Given the description of an element on the screen output the (x, y) to click on. 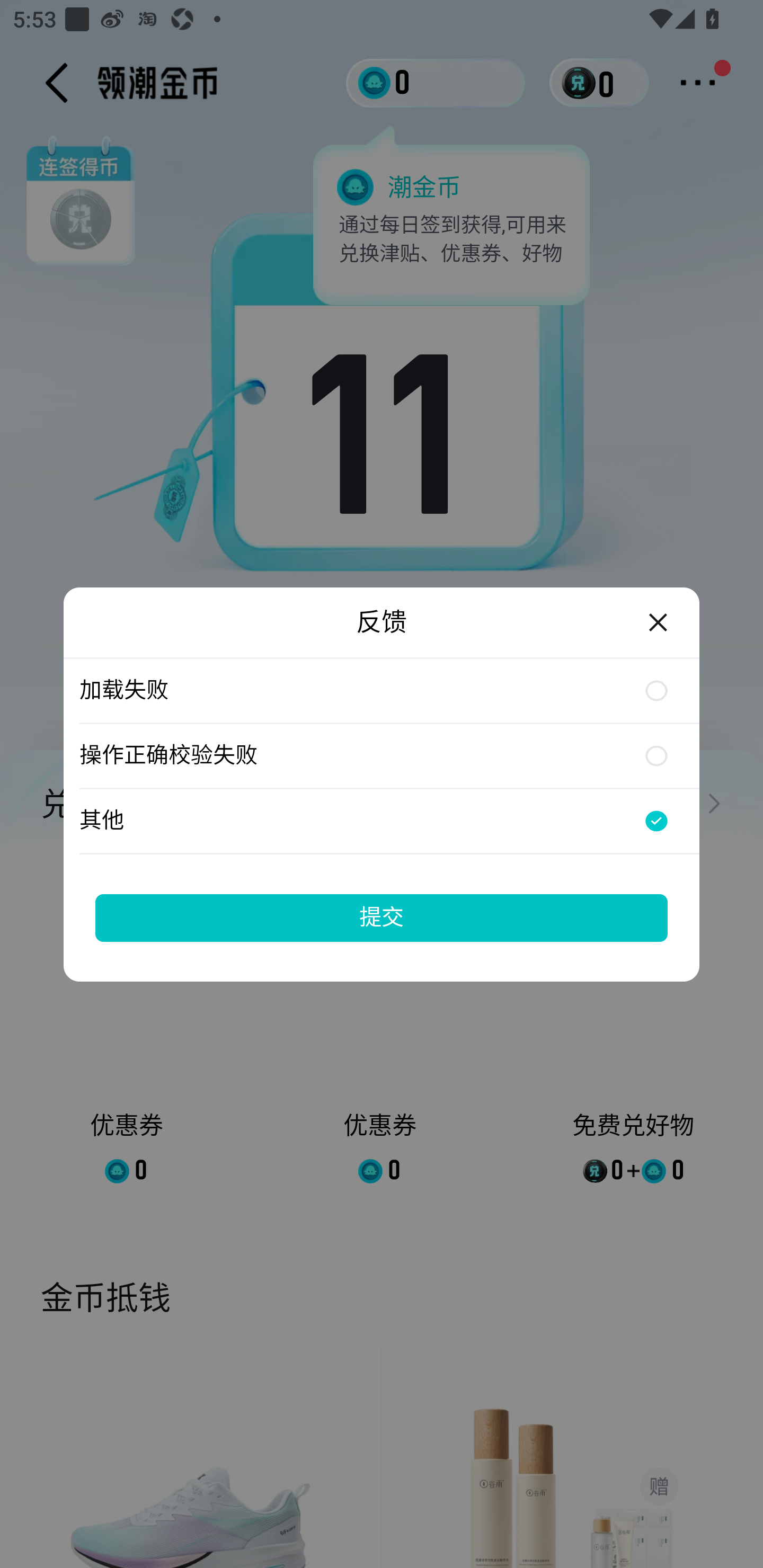
提交 (381, 917)
